Given the description of an element on the screen output the (x, y) to click on. 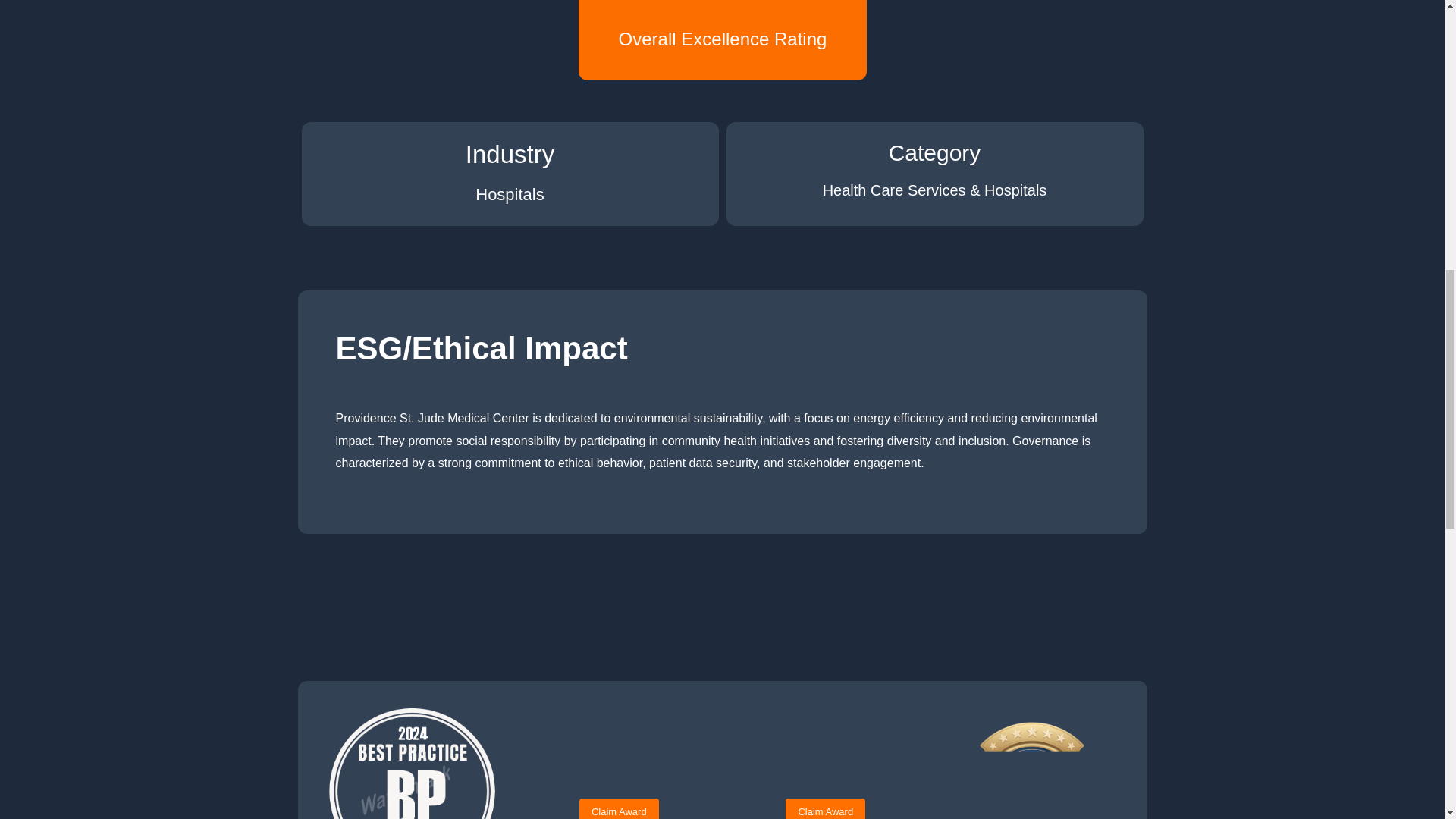
Claim Award (619, 808)
Claim Award (825, 808)
